Given the description of an element on the screen output the (x, y) to click on. 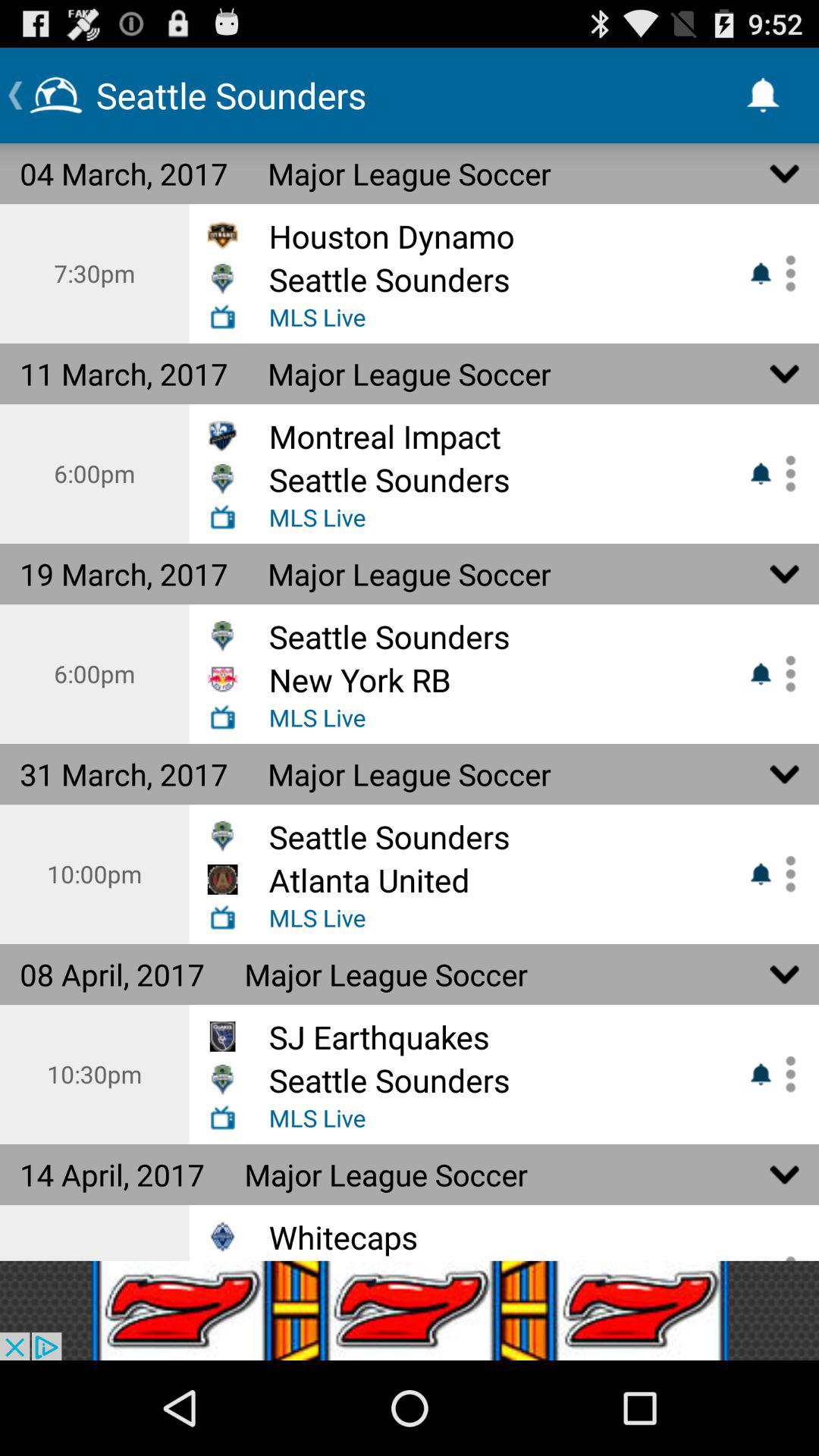
set alert and go to account setttings (785, 673)
